Given the description of an element on the screen output the (x, y) to click on. 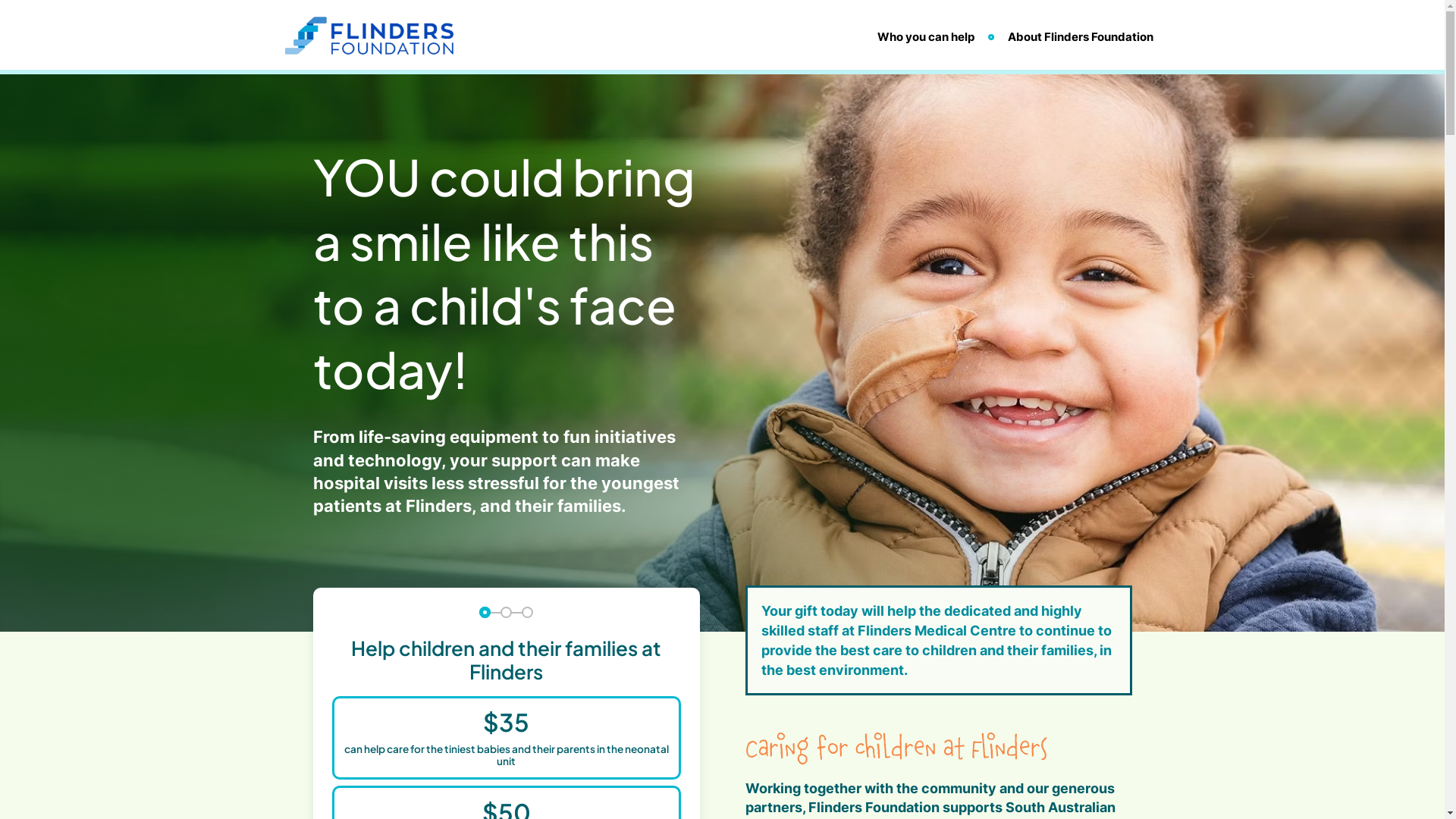
Who you can help Element type: text (924, 36)
Step 1 Element type: text (484, 612)
Step 2 Element type: text (505, 612)
Step 3 Element type: text (527, 612)
About Flinders Foundation Element type: text (1079, 36)
